Given the description of an element on the screen output the (x, y) to click on. 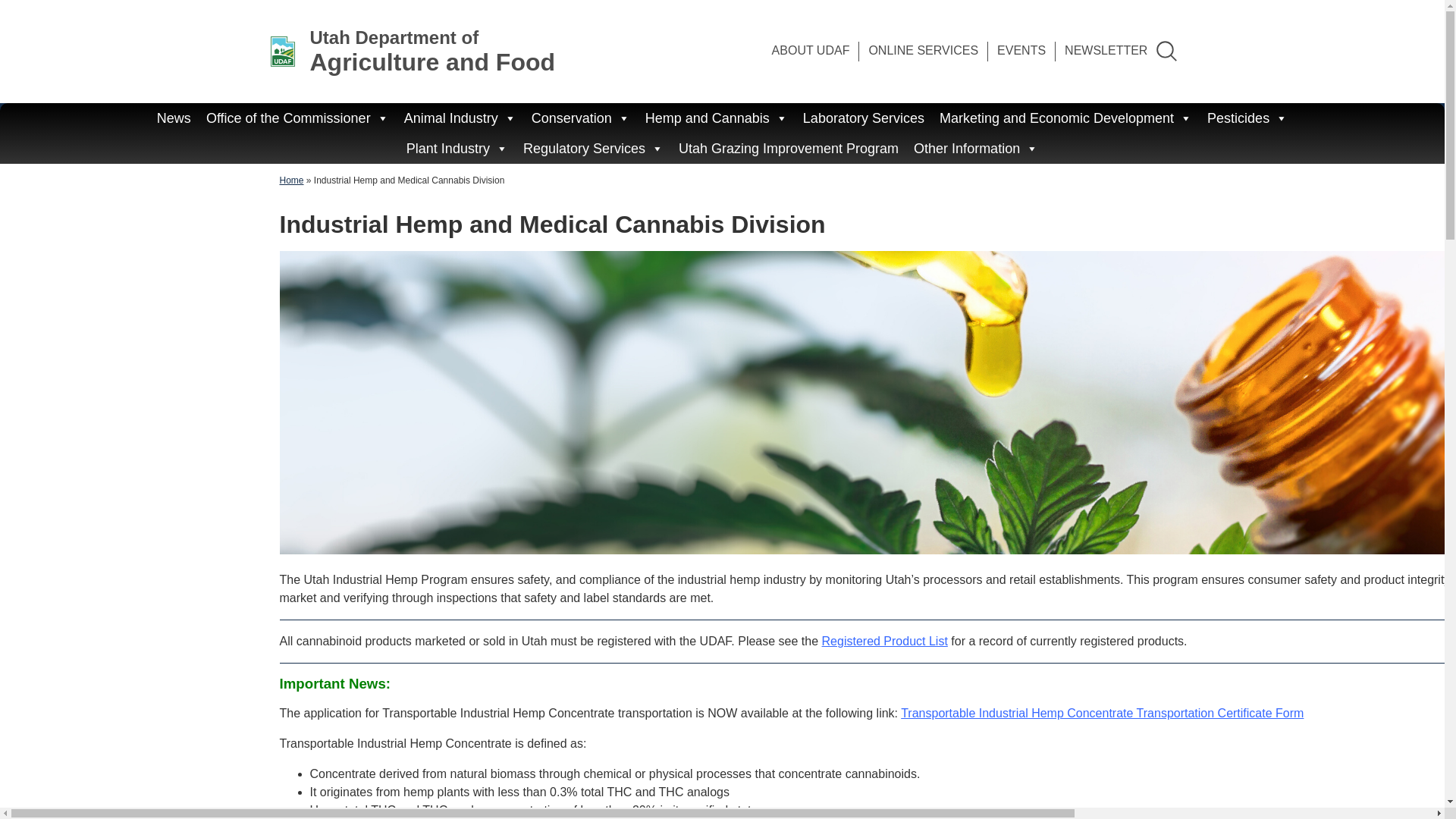
EVENTS (410, 51)
Office of the Commissioner (1021, 51)
News (297, 118)
Conservation (173, 118)
Animal Industry (580, 118)
NEWSLETTER (460, 118)
ABOUT UDAF (1105, 51)
ONLINE SERVICES (810, 51)
